Given the description of an element on the screen output the (x, y) to click on. 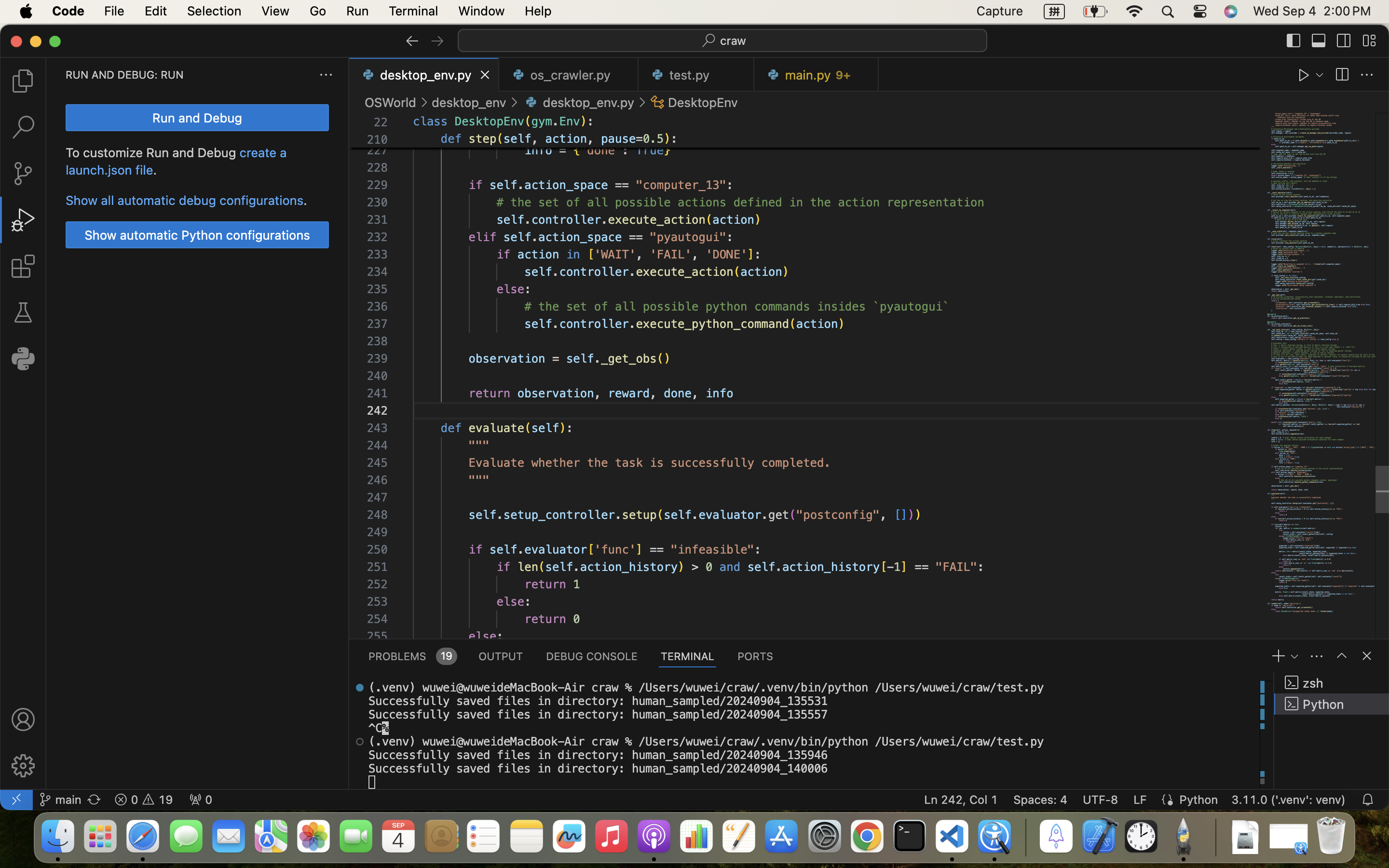
0.5 Element type: AXStaticText (653, 138)
DesktopEnv Element type: AXGroup (702, 101)
class Element type: AXStaticText (430, 121)
 Element type: AXStaticText (22, 719)
0 test.py   Element type: AXRadioButton (696, 74)
